Given the description of an element on the screen output the (x, y) to click on. 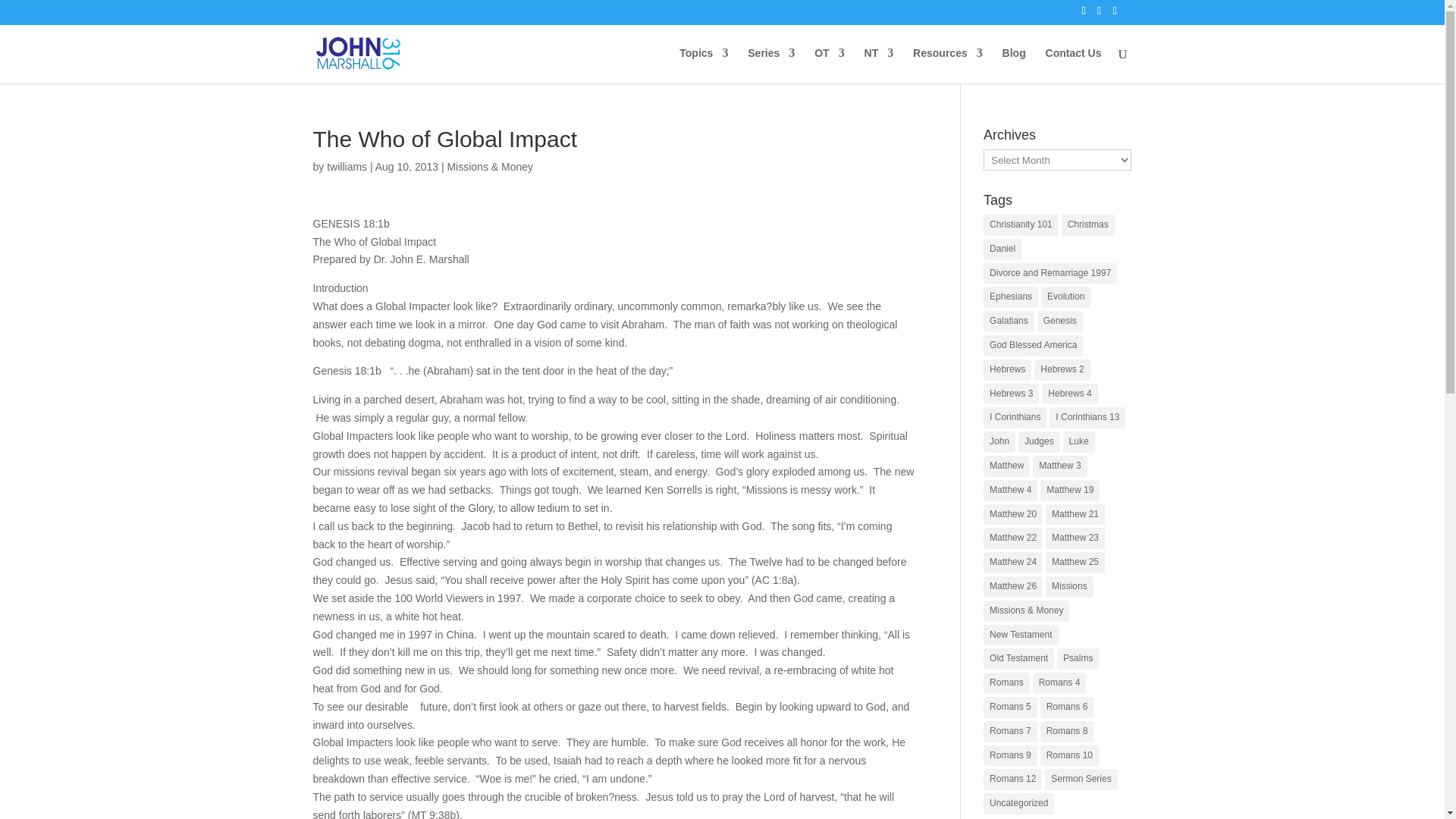
Posts by twilliams (346, 166)
twilliams (346, 166)
Contact Us (1073, 65)
Christianity 101 (1021, 224)
Resources (947, 65)
Topics (703, 65)
Series (771, 65)
